Given the description of an element on the screen output the (x, y) to click on. 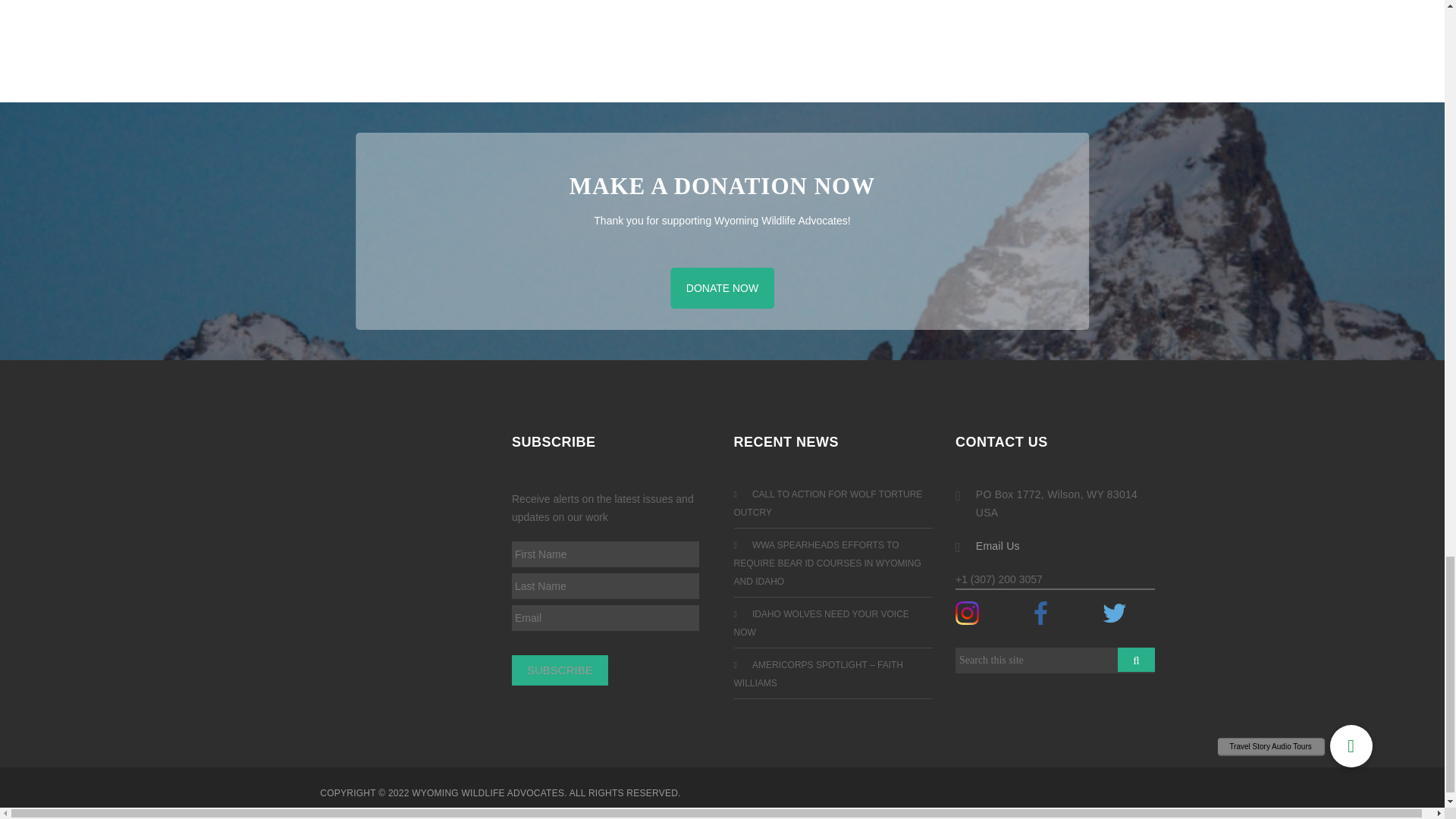
Subscribe (560, 670)
Donate Now (721, 287)
